Given the description of an element on the screen output the (x, y) to click on. 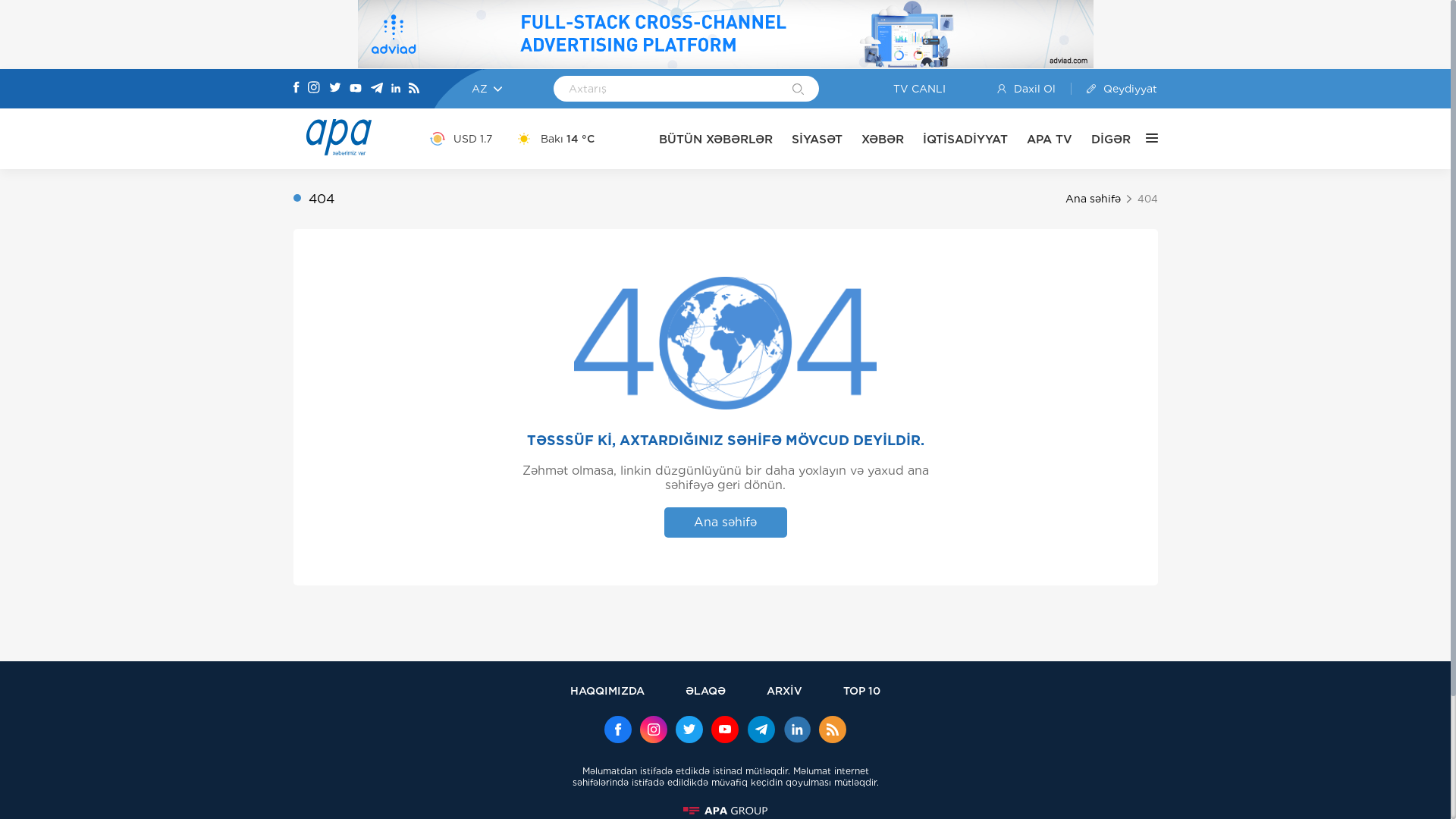
Daxil Ol Element type: text (1034, 88)
TOP 10 Element type: text (861, 690)
HAQQIMIZDA Element type: text (607, 690)
Qeydiyyat Element type: text (1114, 88)
AZ Element type: text (486, 88)
APA TV Element type: text (1049, 138)
USD 1.7 Element type: text (460, 138)
TV CANLI Element type: text (907, 88)
